Given the description of an element on the screen output the (x, y) to click on. 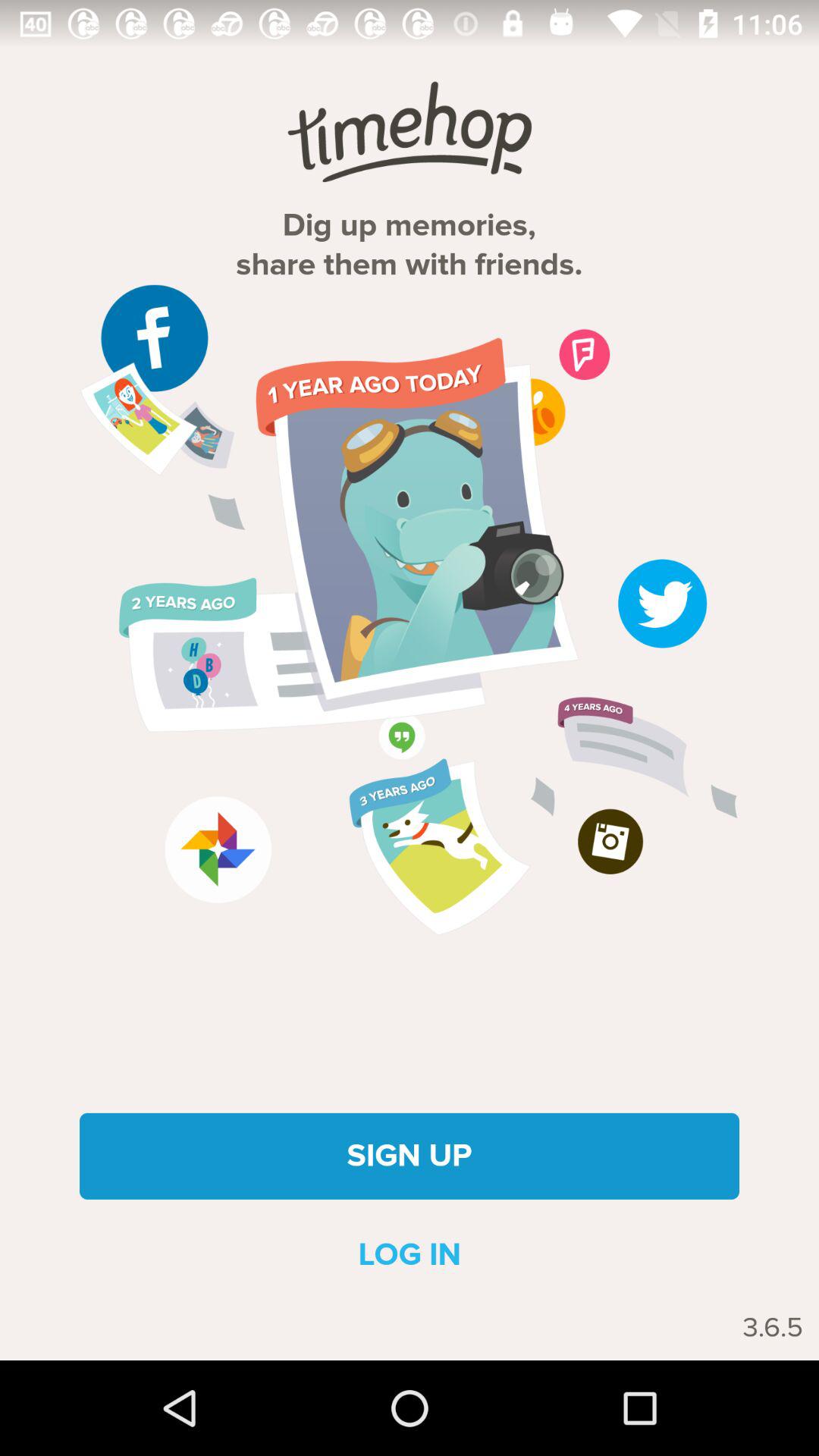
jump to sign up (409, 1156)
